Given the description of an element on the screen output the (x, y) to click on. 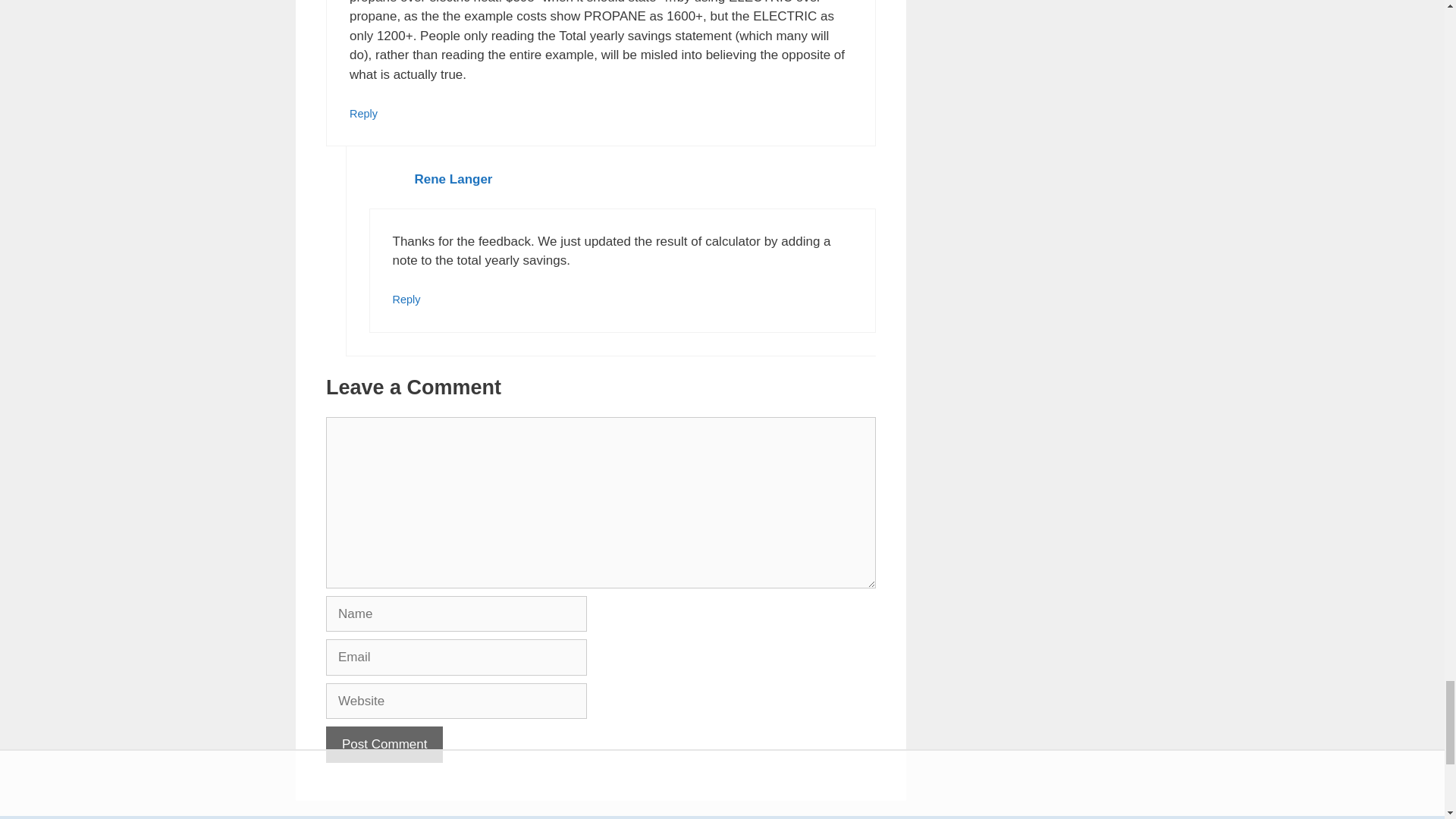
Post Comment (384, 744)
